Given the description of an element on the screen output the (x, y) to click on. 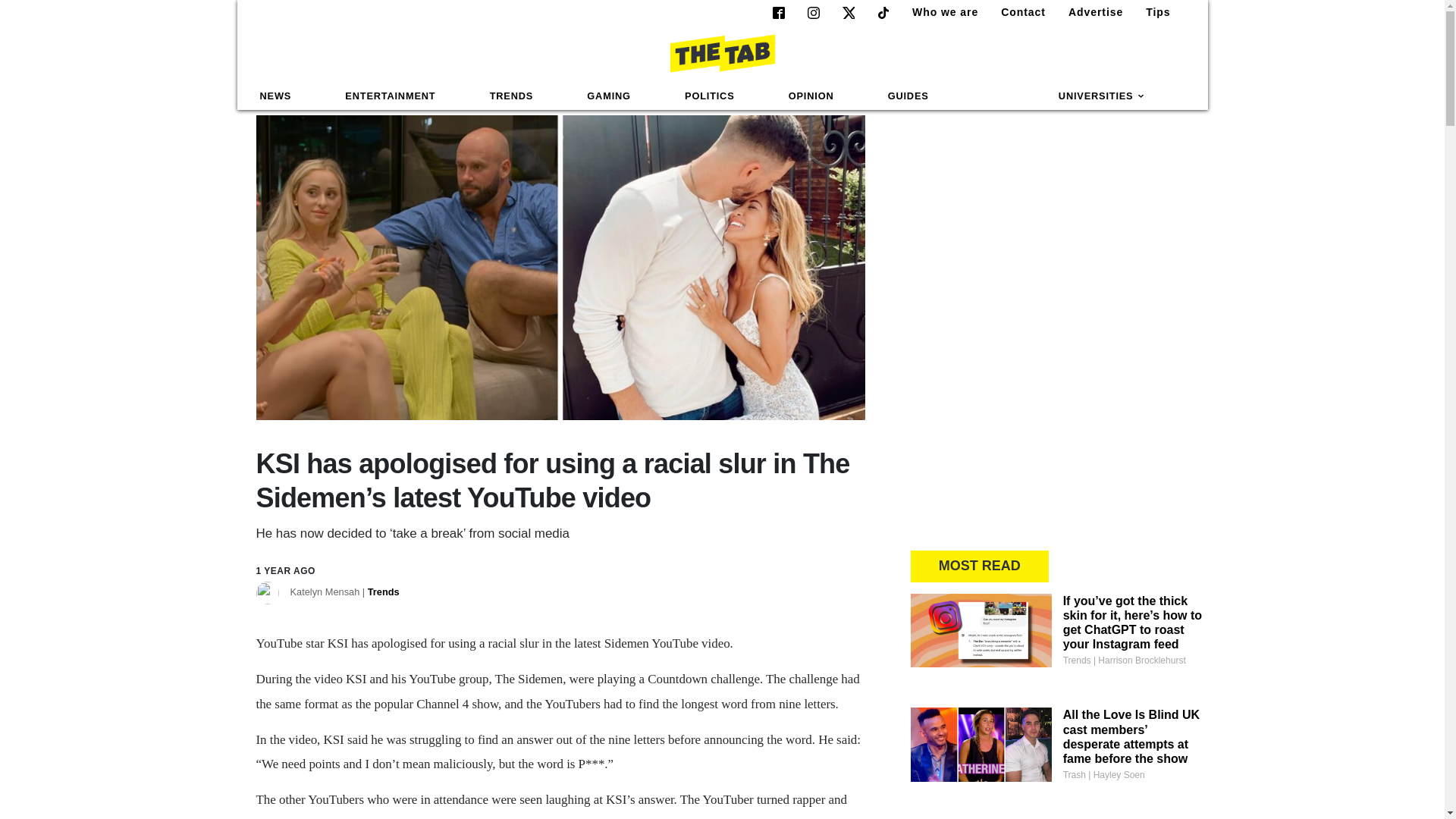
POLITICS (708, 96)
Advertise (1089, 11)
ENTERTAINMENT (389, 96)
Who we are (938, 11)
Posts by Katelyn Mensah (343, 593)
GAMING (608, 96)
Contact (1016, 11)
Tips (1152, 11)
NEWS (275, 96)
UNIVERSITIES (1101, 96)
